Given the description of an element on the screen output the (x, y) to click on. 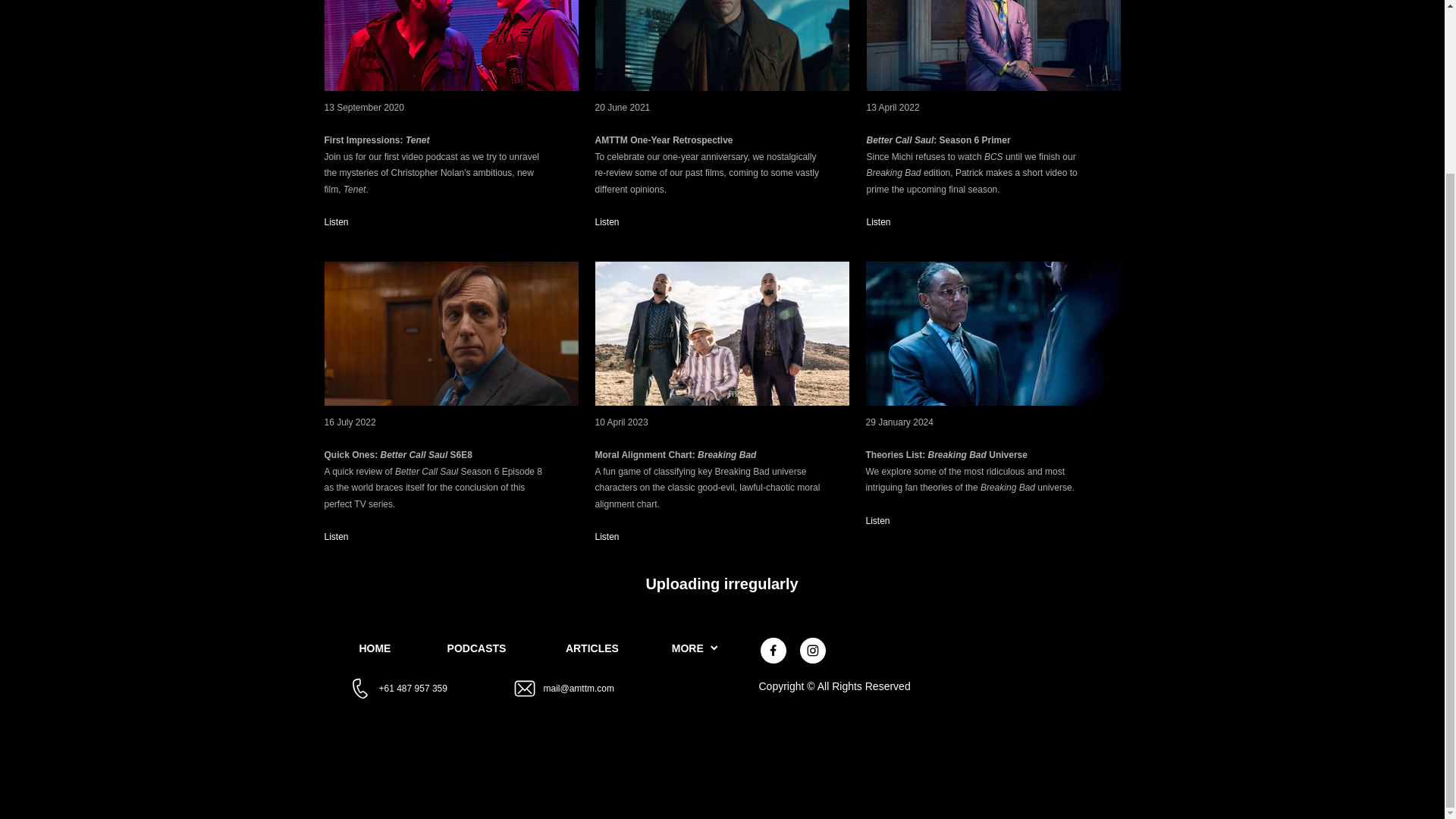
Listen (336, 536)
Listen (606, 222)
ARTICLES (592, 648)
Listen (336, 222)
Listen (877, 520)
HOME (374, 648)
PODCASTS (475, 648)
Listen (606, 536)
Listen (877, 222)
MORE (694, 648)
